Given the description of an element on the screen output the (x, y) to click on. 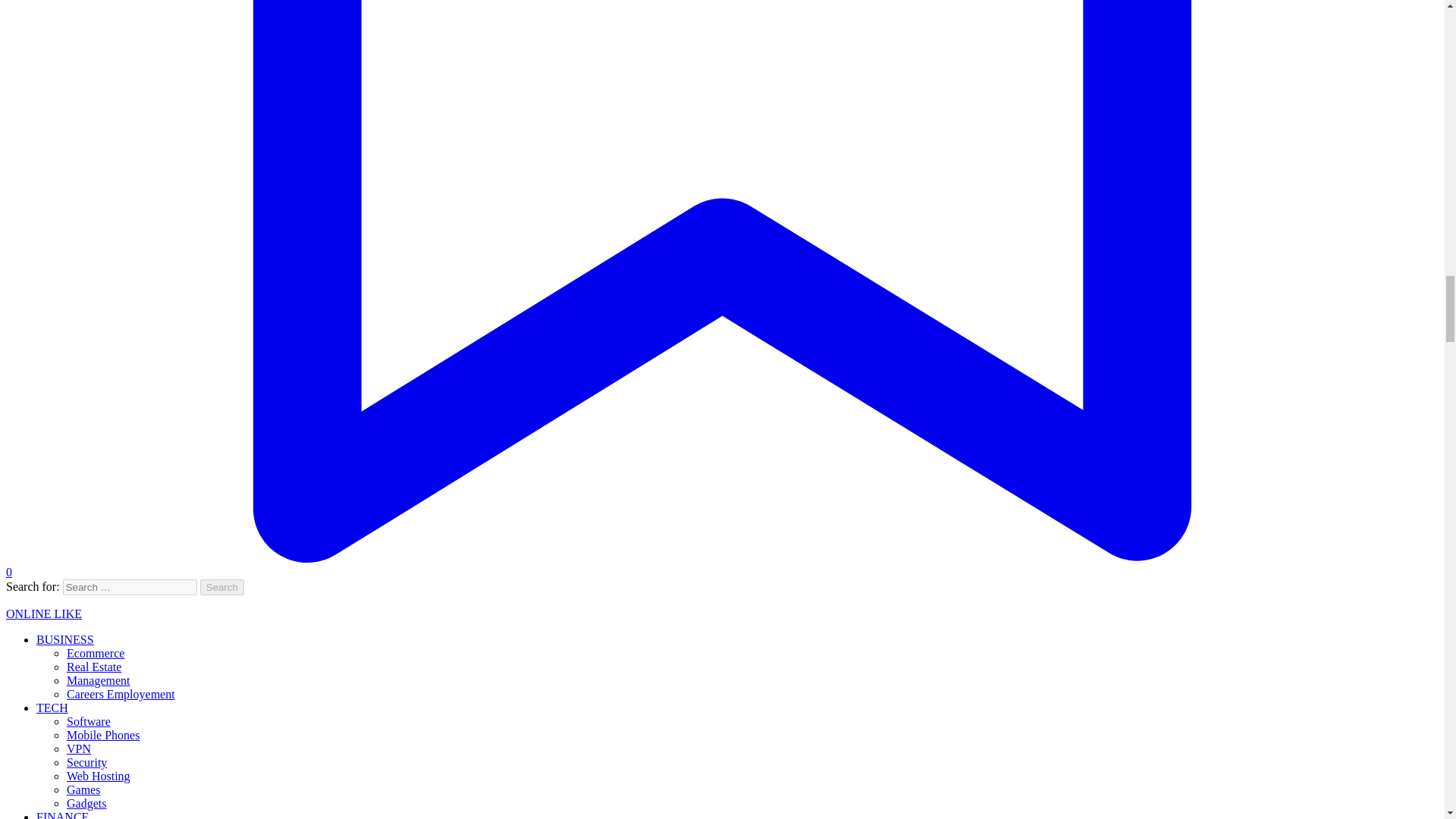
ONLINE LIKE (43, 613)
Search (222, 587)
Search (222, 587)
